Given the description of an element on the screen output the (x, y) to click on. 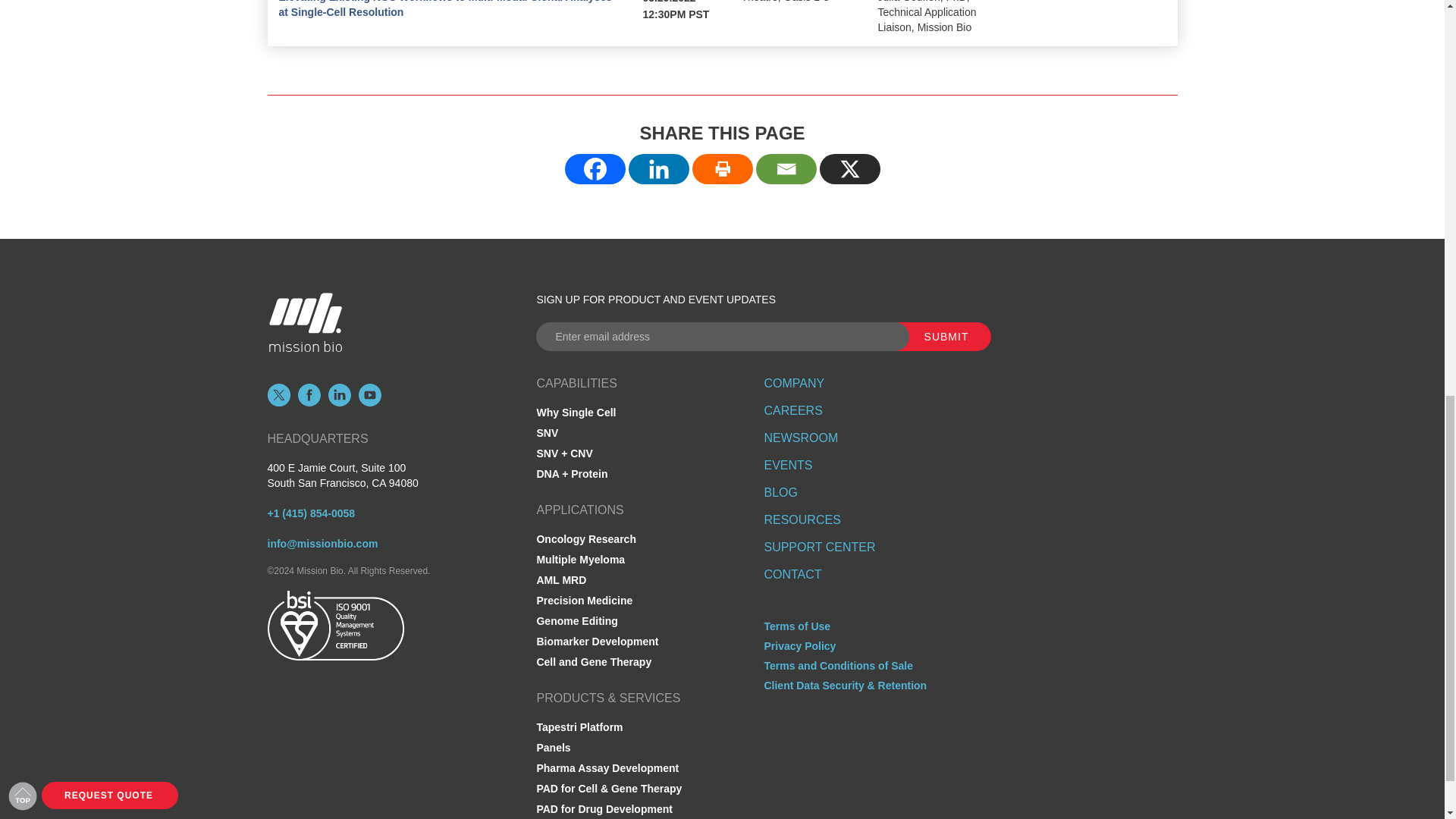
Email (785, 168)
Facebook (594, 168)
Linkedin (657, 168)
Submit (936, 336)
Print (721, 168)
X (848, 168)
